Given the description of an element on the screen output the (x, y) to click on. 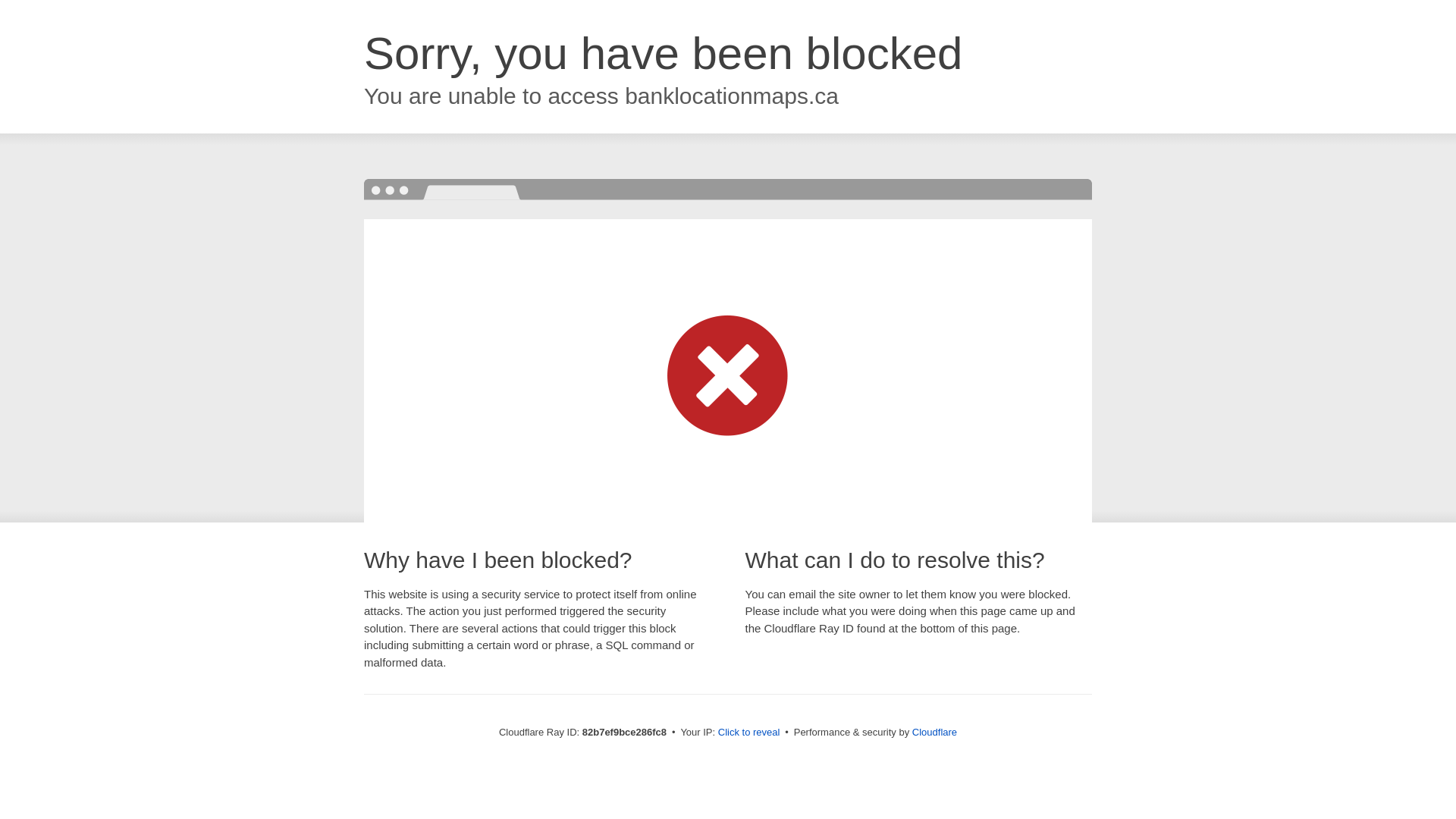
Click to reveal Element type: text (749, 732)
Cloudflare Element type: text (934, 731)
